Given the description of an element on the screen output the (x, y) to click on. 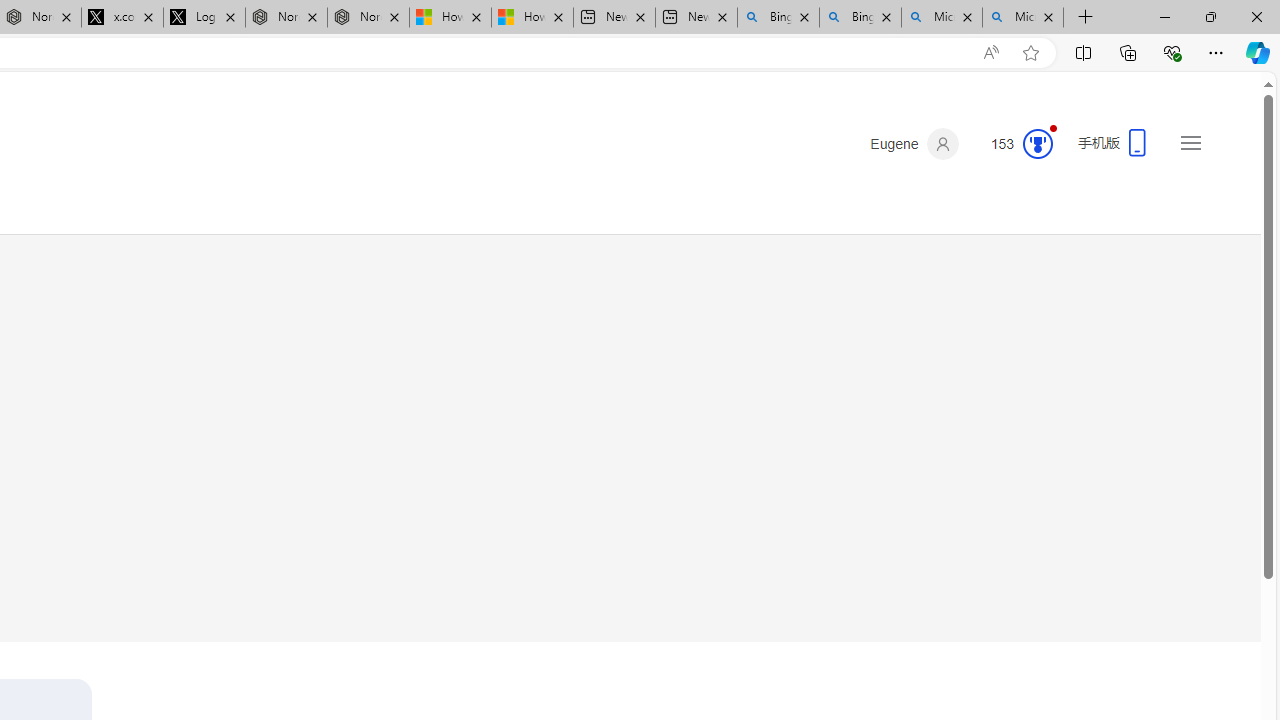
Microsoft Bing Timeline - Search (1023, 17)
Log in to X / X (203, 17)
x.com/NordaceOfficial (121, 17)
How to Use a Monitor With Your Closed Laptop (532, 17)
Class: medal-circled (1037, 143)
Settings and quick links (1190, 142)
